Given the description of an element on the screen output the (x, y) to click on. 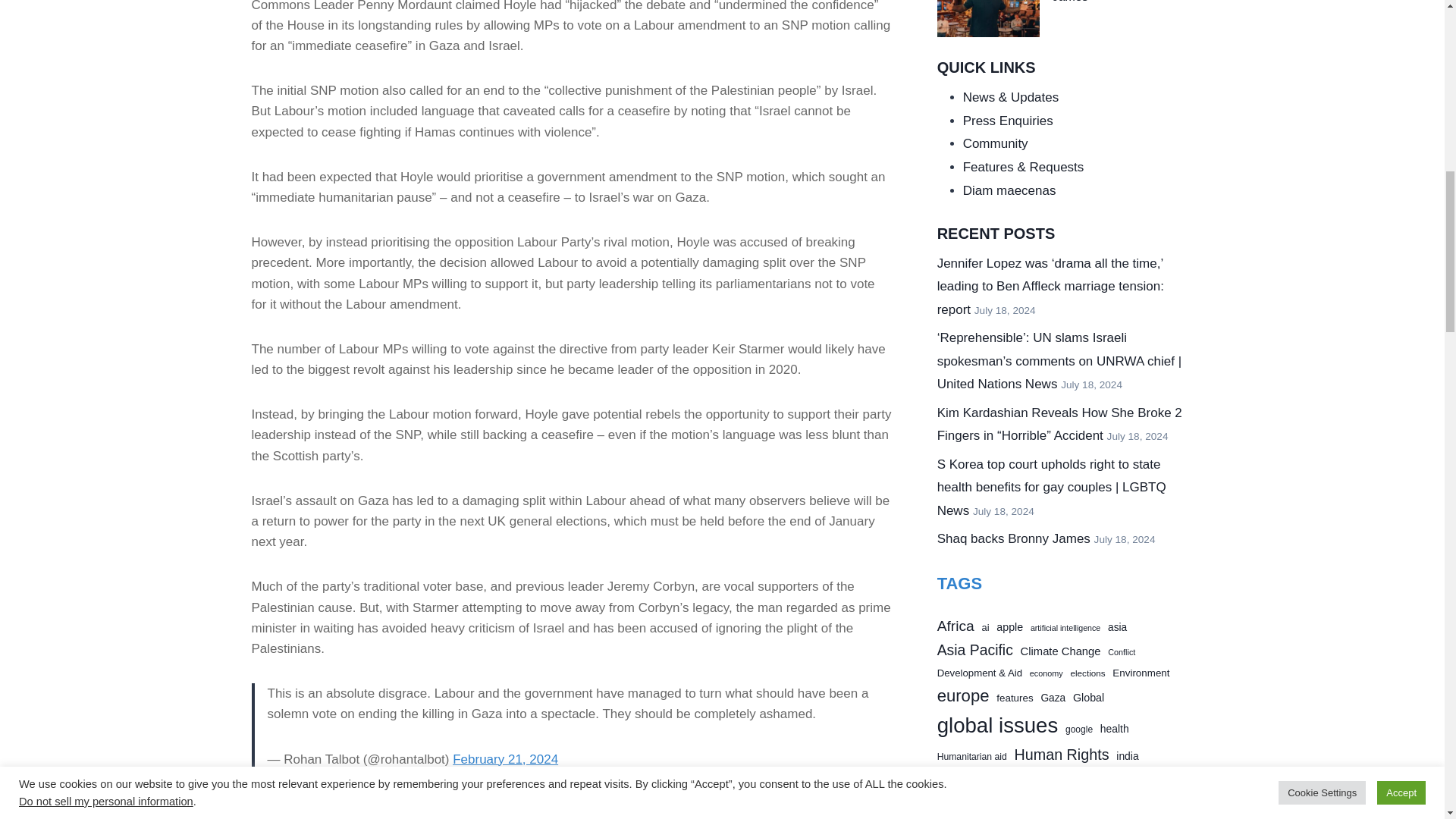
February 21, 2024 (504, 759)
